Given the description of an element on the screen output the (x, y) to click on. 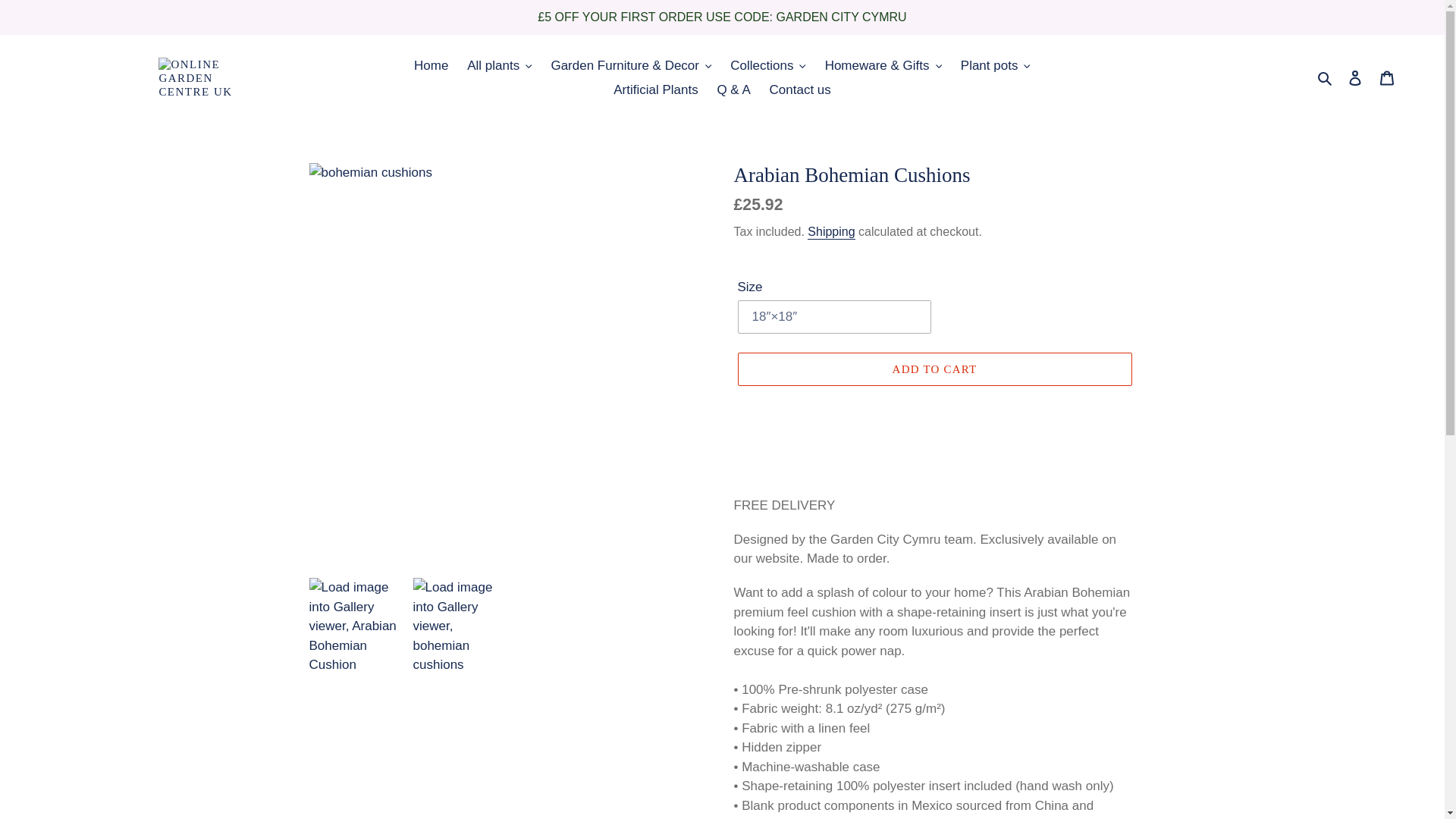
Home (430, 65)
All plants (499, 65)
Collections (767, 65)
